Given the description of an element on the screen output the (x, y) to click on. 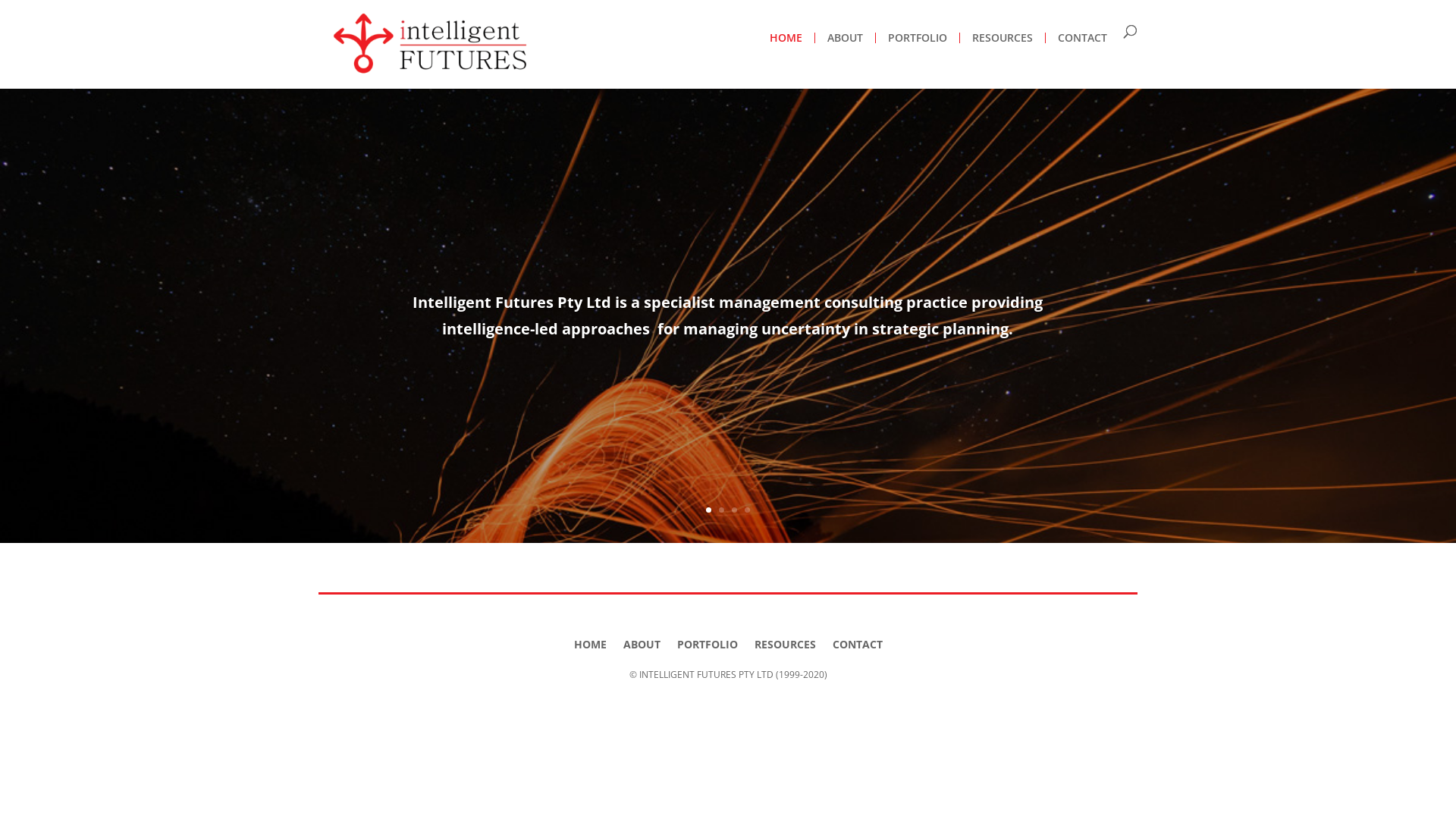
ABOUT Element type: text (844, 37)
2 Element type: text (721, 509)
PORTFOLIO Element type: text (706, 641)
4 Element type: text (746, 509)
RESOURCES Element type: text (784, 641)
RESOURCES Element type: text (1002, 37)
HOME Element type: text (785, 37)
ABOUT Element type: text (641, 641)
1 Element type: text (708, 509)
3 Element type: text (734, 509)
PORTFOLIO Element type: text (917, 37)
CONTACT Element type: text (1082, 37)
HOME Element type: text (589, 641)
CONTACT Element type: text (857, 641)
